Given the description of an element on the screen output the (x, y) to click on. 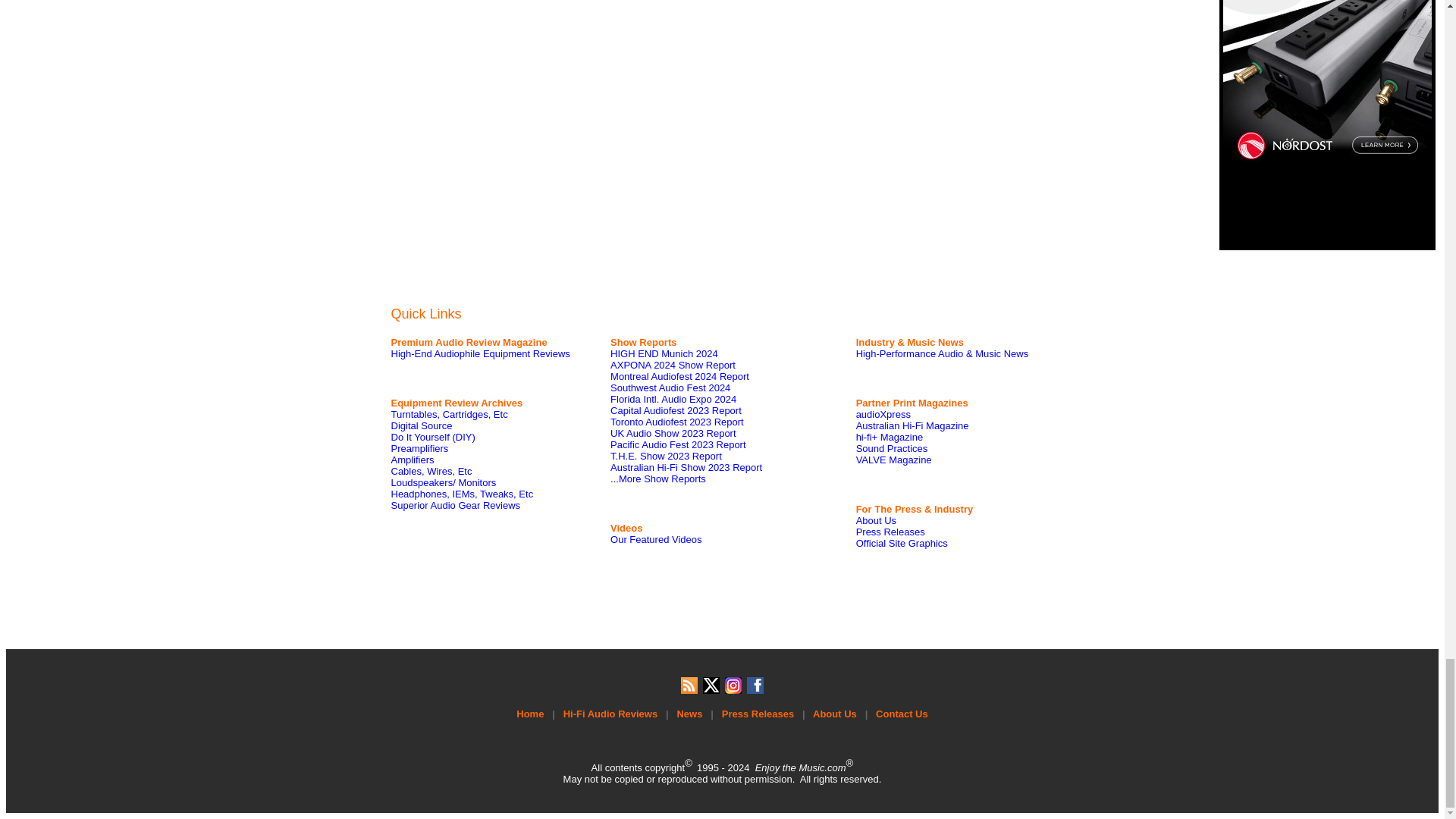
Amplifiers (412, 460)
Superior Audio Gear Reviews (456, 505)
Montreal Audiofest 2024 Report (679, 376)
Digital Source (421, 425)
HIGH END Munich 2024 (663, 353)
Turntables, Cartridges, Etc (449, 414)
Preamplifiers (419, 448)
High-End Audiophile Equipment Reviews (480, 353)
Headphones, IEMs, Tweaks, Etc (462, 493)
Cables, Wires, Etc (431, 471)
